Given the description of an element on the screen output the (x, y) to click on. 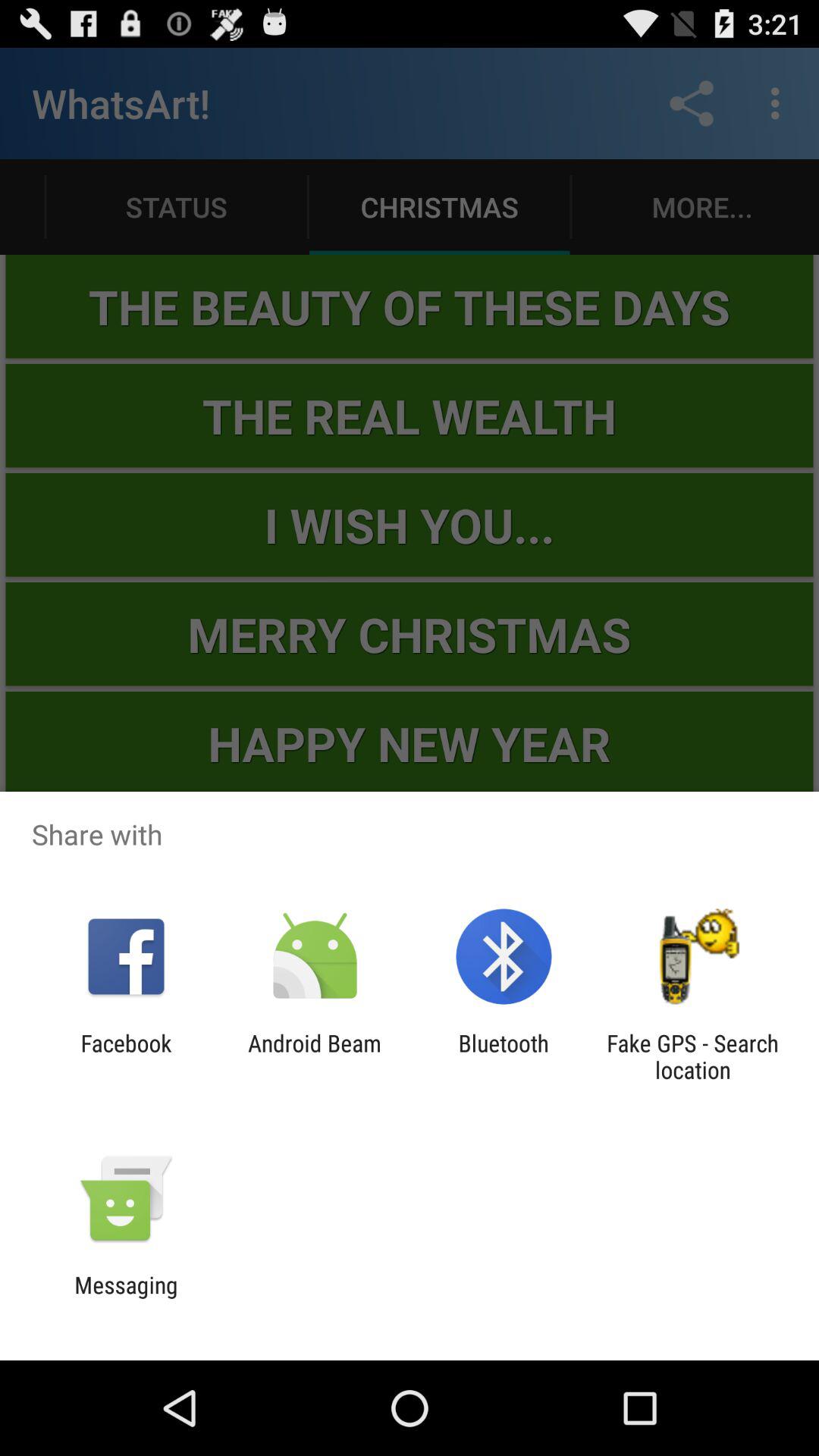
tap the icon to the right of the bluetooth icon (692, 1056)
